Given the description of an element on the screen output the (x, y) to click on. 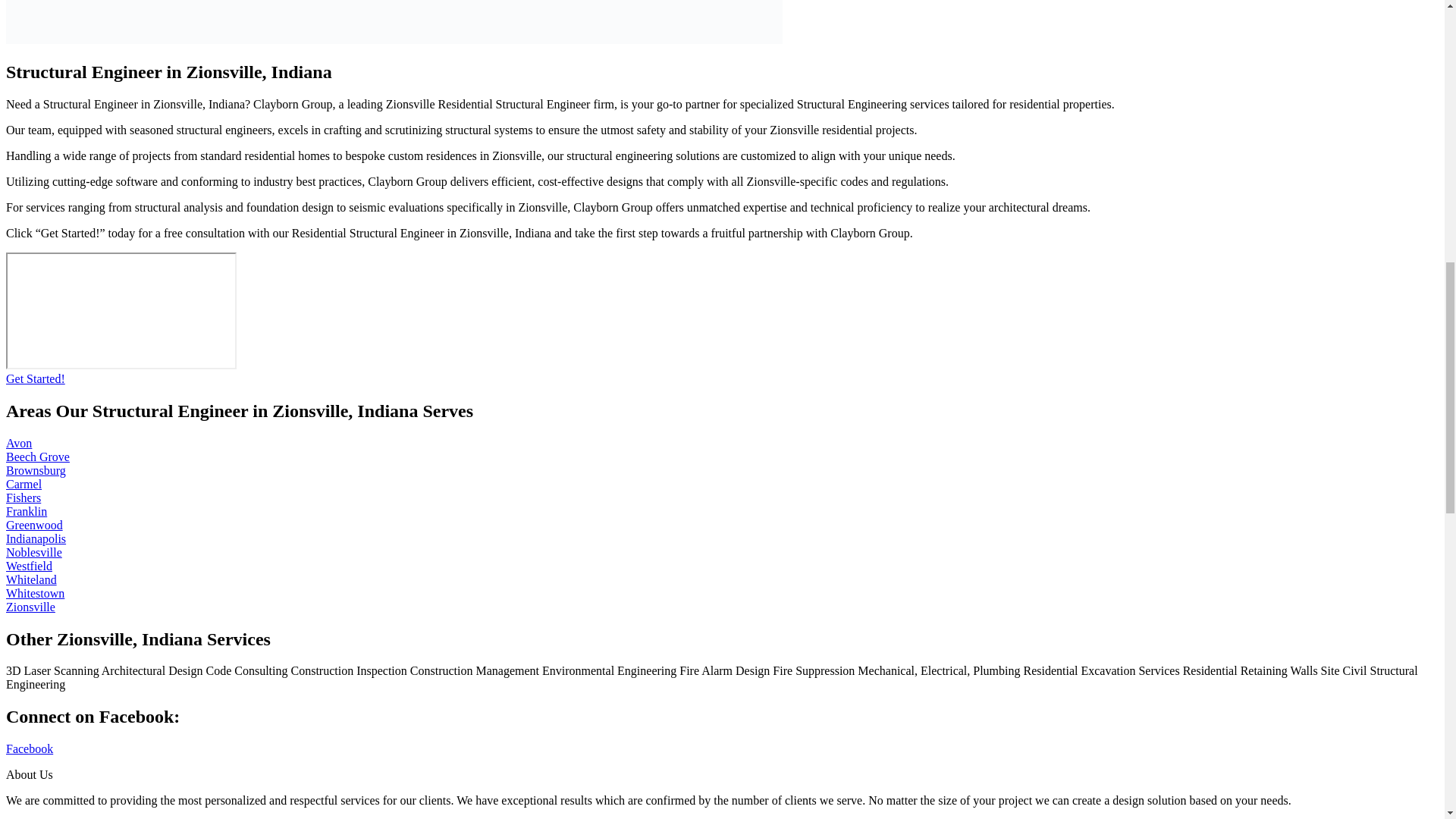
Carmel (23, 483)
Fishers (22, 497)
Brownsburg (35, 470)
Get Started! (35, 378)
Whiteland (30, 579)
Franklin (25, 511)
Westfield (28, 565)
Avon (18, 442)
Noblesville (33, 552)
Beech Grove (37, 456)
Zionsville, Indiana (120, 310)
Greenwood (33, 524)
Indianapolis (35, 538)
